Given the description of an element on the screen output the (x, y) to click on. 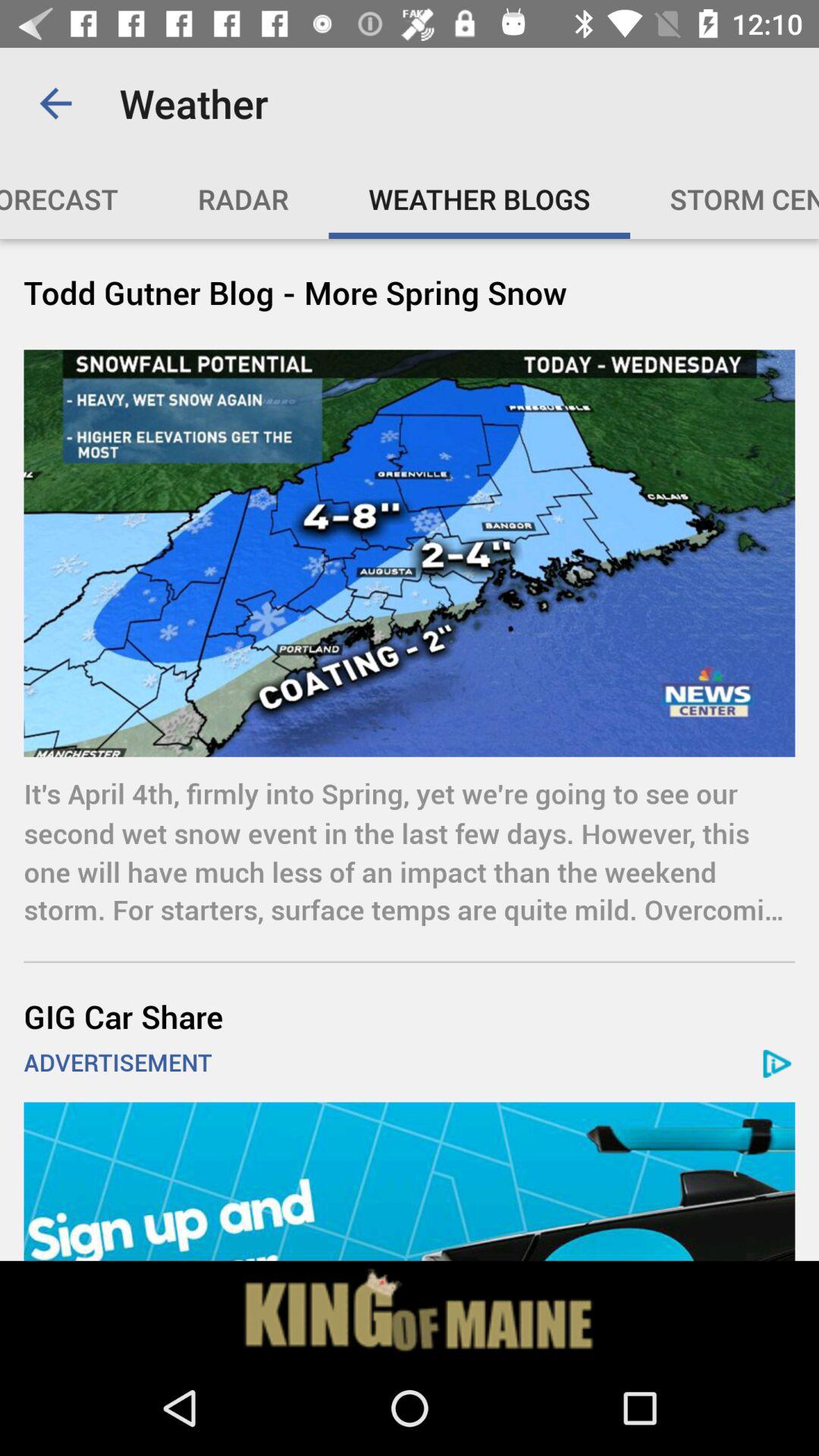
click on advertisement (409, 1310)
